Given the description of an element on the screen output the (x, y) to click on. 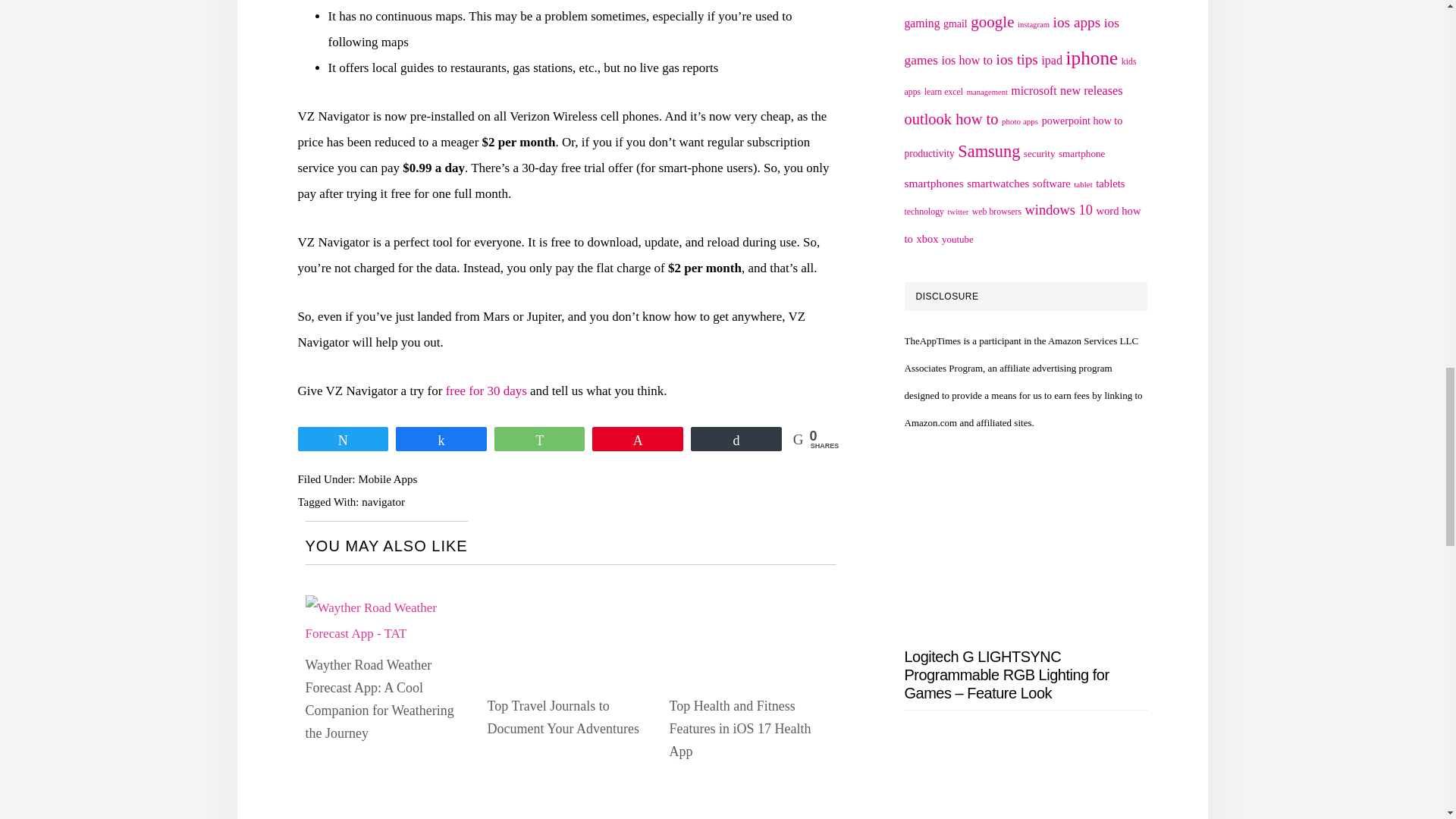
Top Health and Fitness Features in iOS 17 Health App (739, 728)
navigator (382, 501)
Mobile Apps (387, 479)
Top Travel Journals to Document Your Adventures (562, 717)
